Given the description of an element on the screen output the (x, y) to click on. 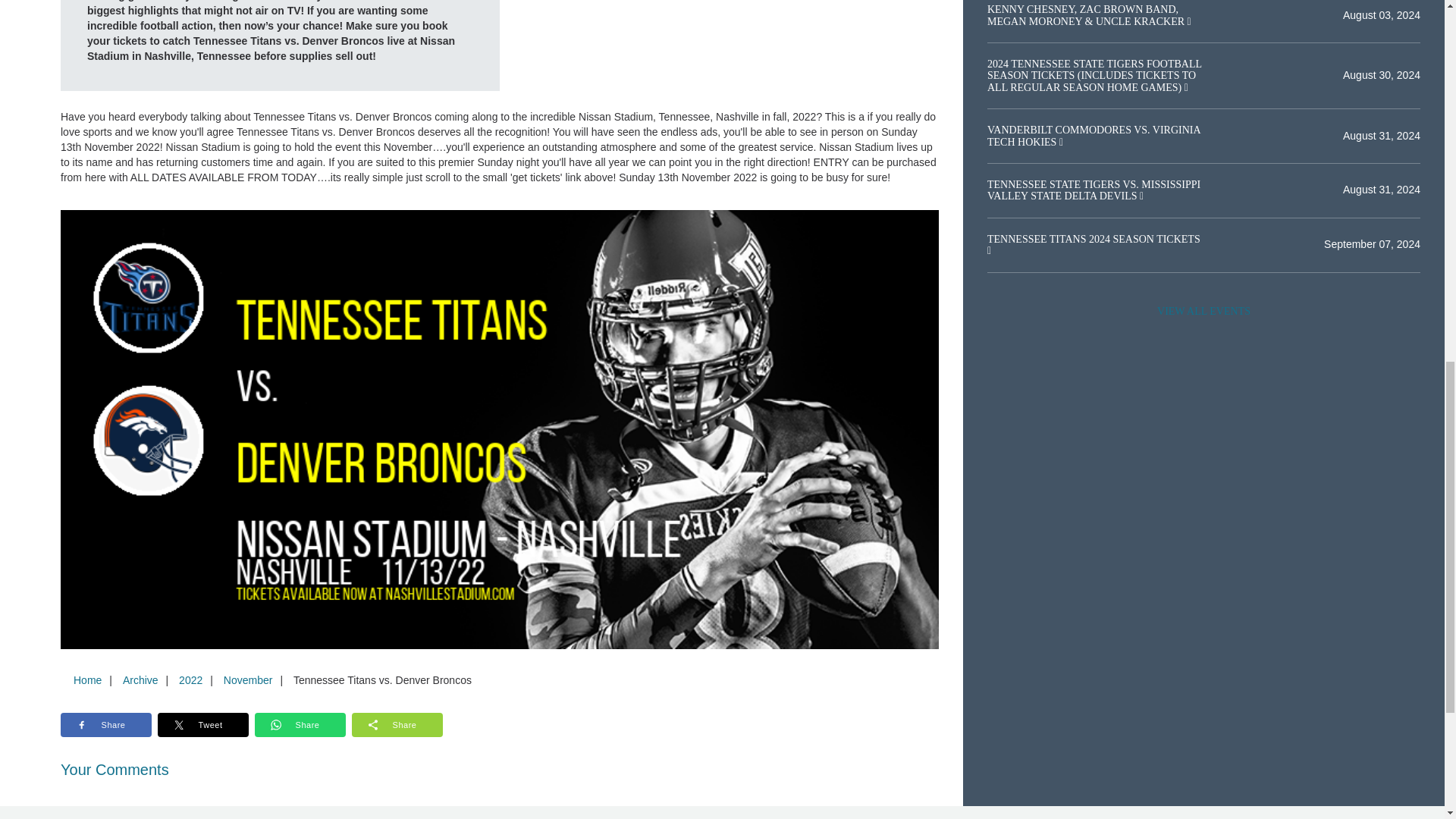
2022 (190, 680)
TENNESSEE TITANS 2024 SEASON TICKETS (1093, 238)
VIEW ALL EVENTS (1203, 311)
Archive (140, 680)
November (248, 680)
Home (87, 680)
